Given the description of an element on the screen output the (x, y) to click on. 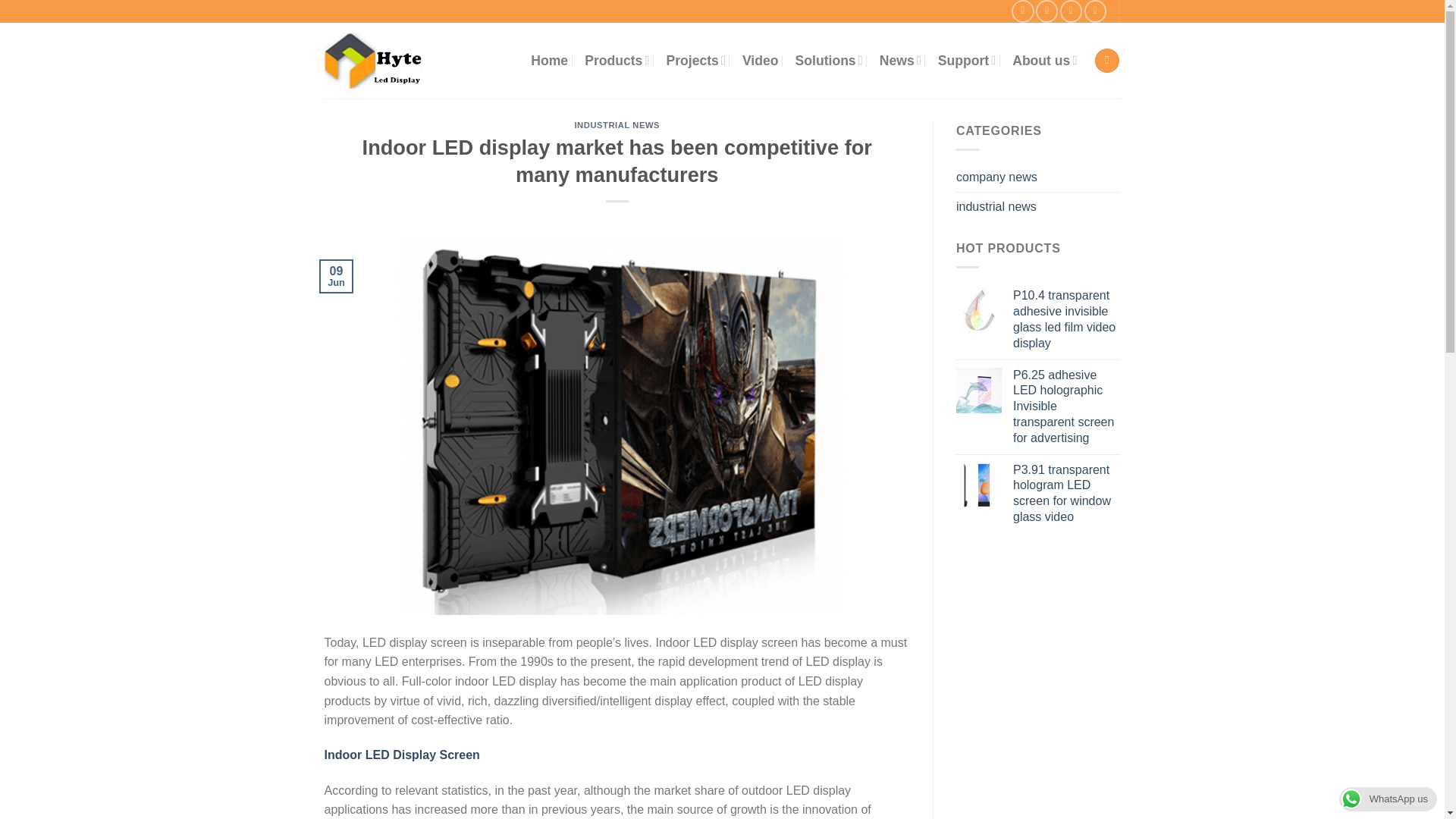
Follow on Twitter (1046, 11)
Products (617, 60)
Follow on Instagram (1022, 11)
Send us an email (1070, 11)
Support (966, 60)
Home (549, 60)
Follow on Pinterest (1095, 11)
Solutions (828, 60)
Video (760, 60)
Projects (695, 60)
News (900, 60)
